Given the description of an element on the screen output the (x, y) to click on. 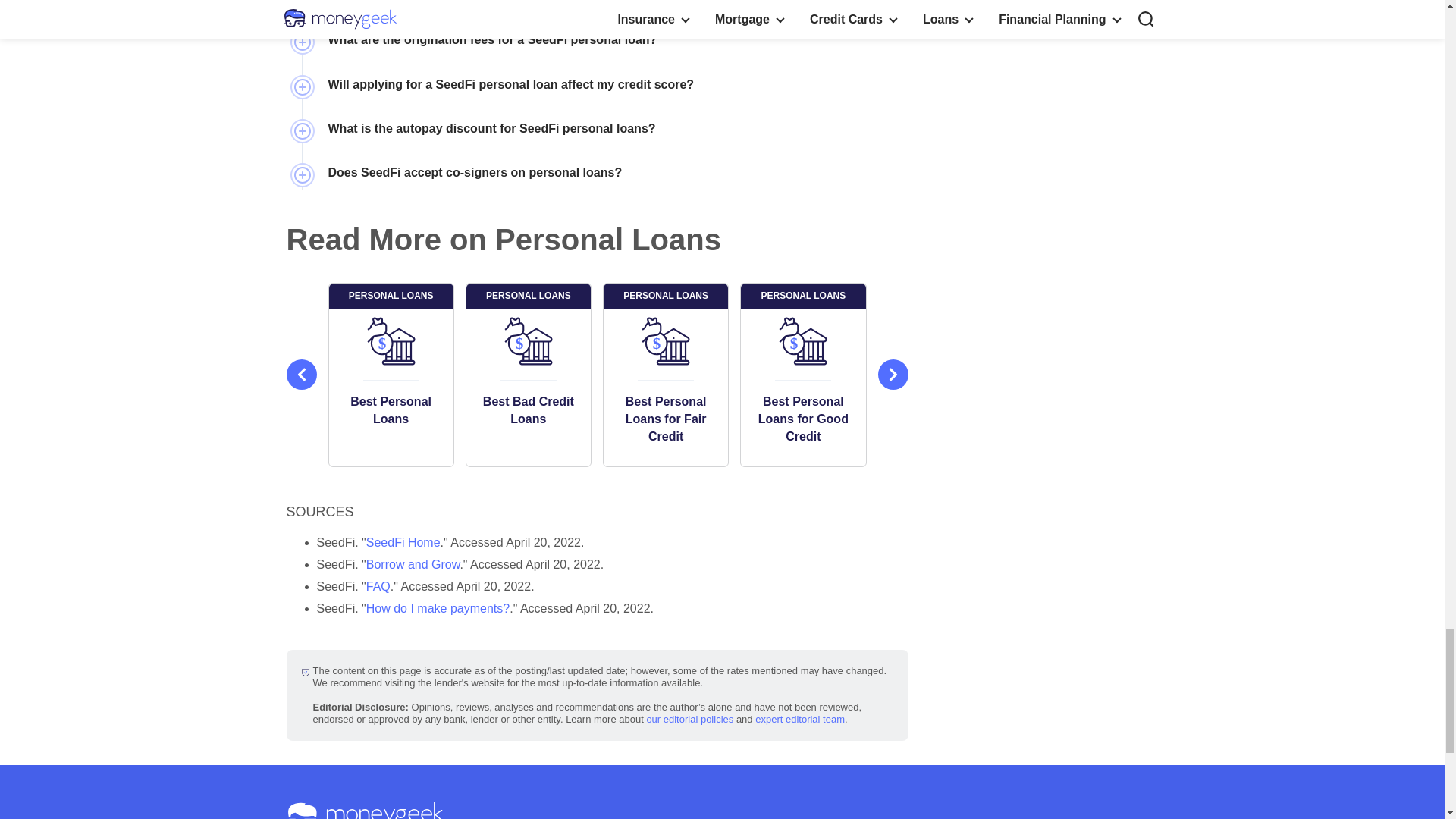
Best Personal Loans for Good Credit (802, 419)
Best Personal Loans (390, 410)
Best Personal Loans for Fair Credit (666, 419)
Best Bad Credit Loans (528, 410)
